Given the description of an element on the screen output the (x, y) to click on. 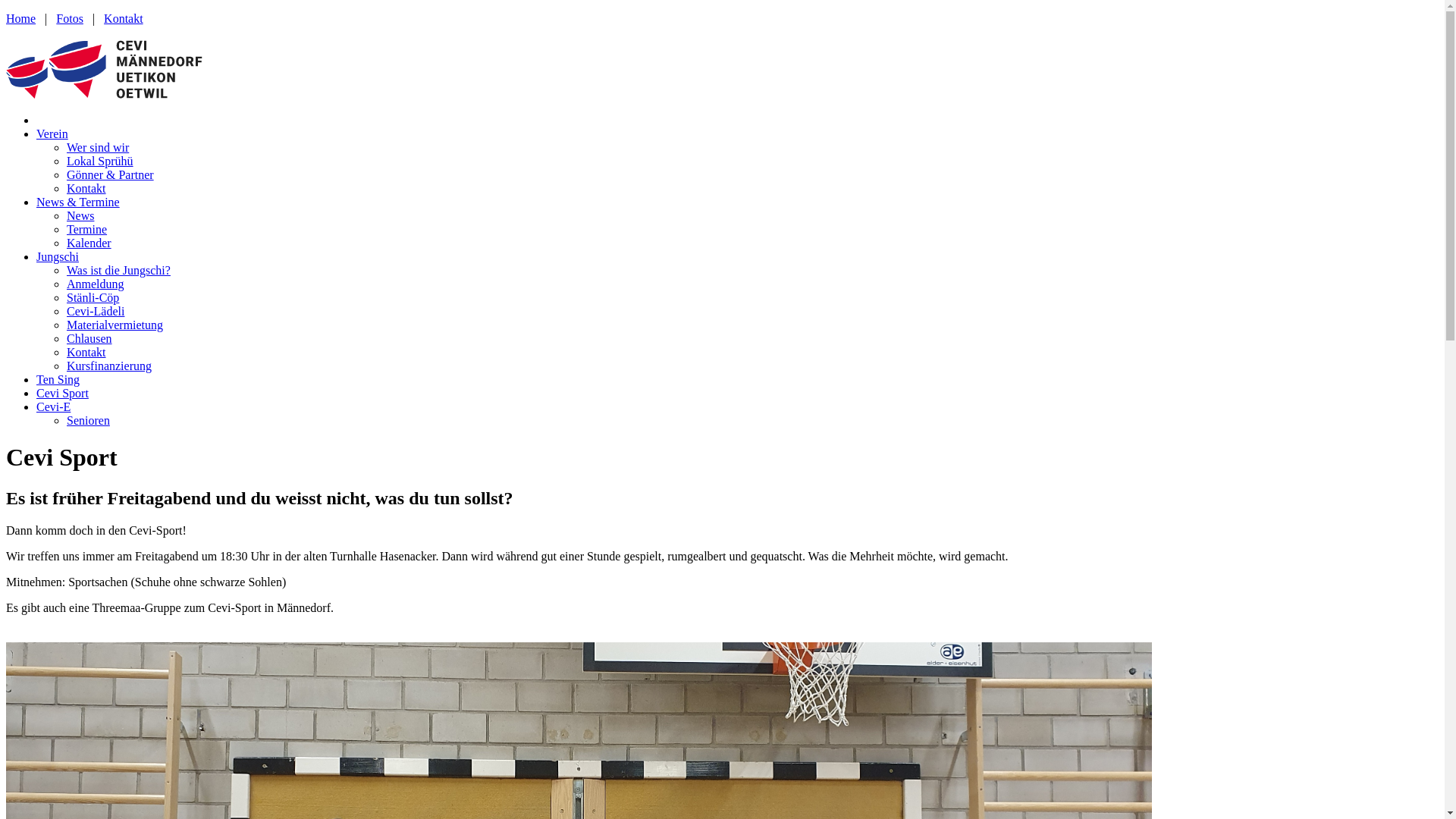
Cevi-E Element type: text (53, 406)
Kalender Element type: text (88, 242)
Chlausen Element type: text (89, 338)
Jungschi Element type: text (57, 256)
Cevi Sport Element type: text (62, 392)
Materialvermietung Element type: text (114, 324)
News & Termine Element type: text (77, 201)
News Element type: text (80, 215)
Termine Element type: text (86, 228)
Home Element type: text (20, 18)
Was ist die Jungschi? Element type: text (118, 269)
Kontakt Element type: text (86, 351)
Verein Element type: text (52, 133)
Anmeldung Element type: text (95, 283)
Ten Sing Element type: text (57, 379)
Kontakt Element type: text (123, 18)
Wer sind wir Element type: text (97, 147)
Kursfinanzierung Element type: text (108, 365)
Fotos Element type: text (69, 18)
Senioren Element type: text (87, 420)
Kontakt Element type: text (86, 188)
